Given the description of an element on the screen output the (x, y) to click on. 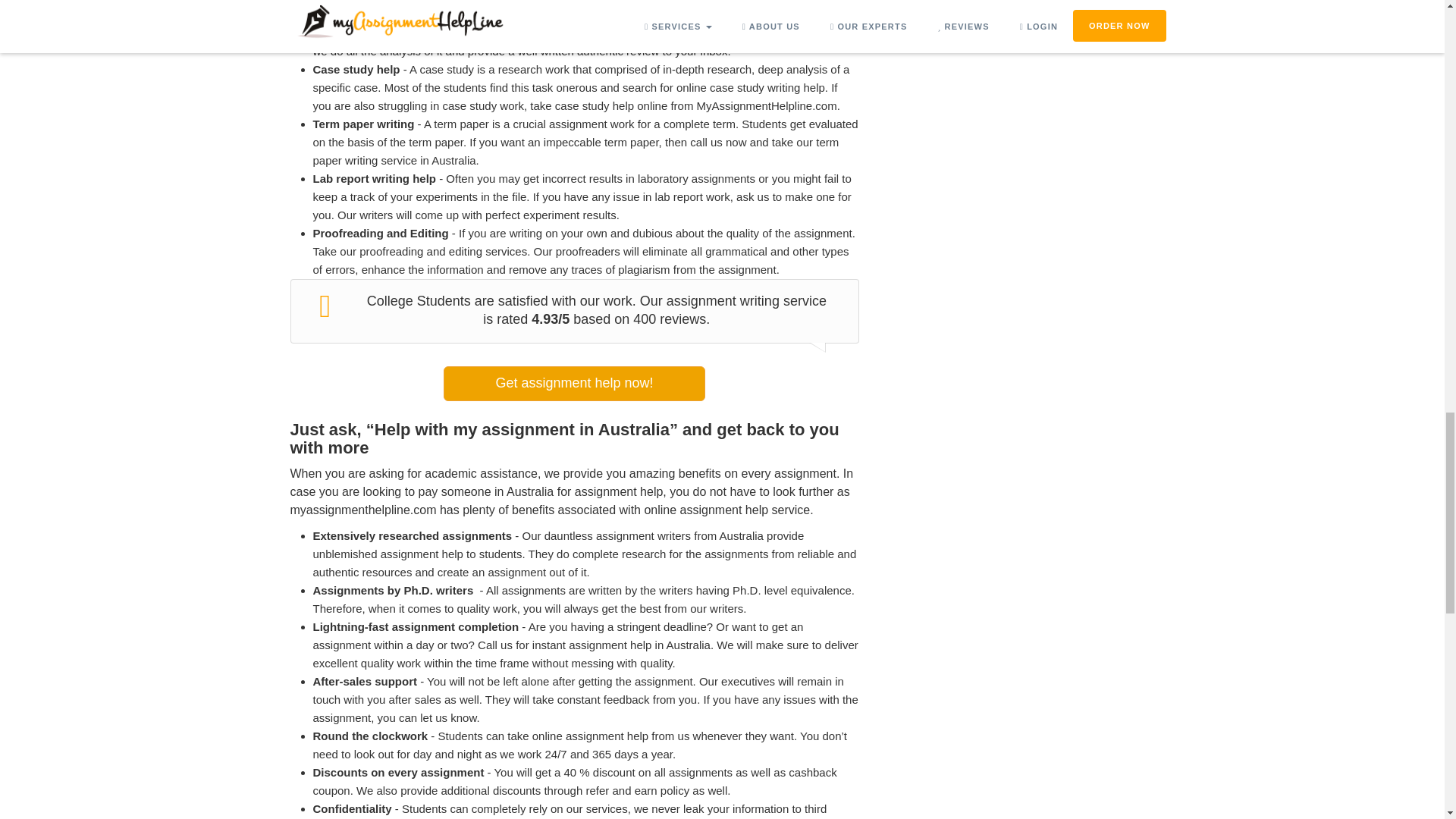
Get assignment help now! (574, 383)
